Given the description of an element on the screen output the (x, y) to click on. 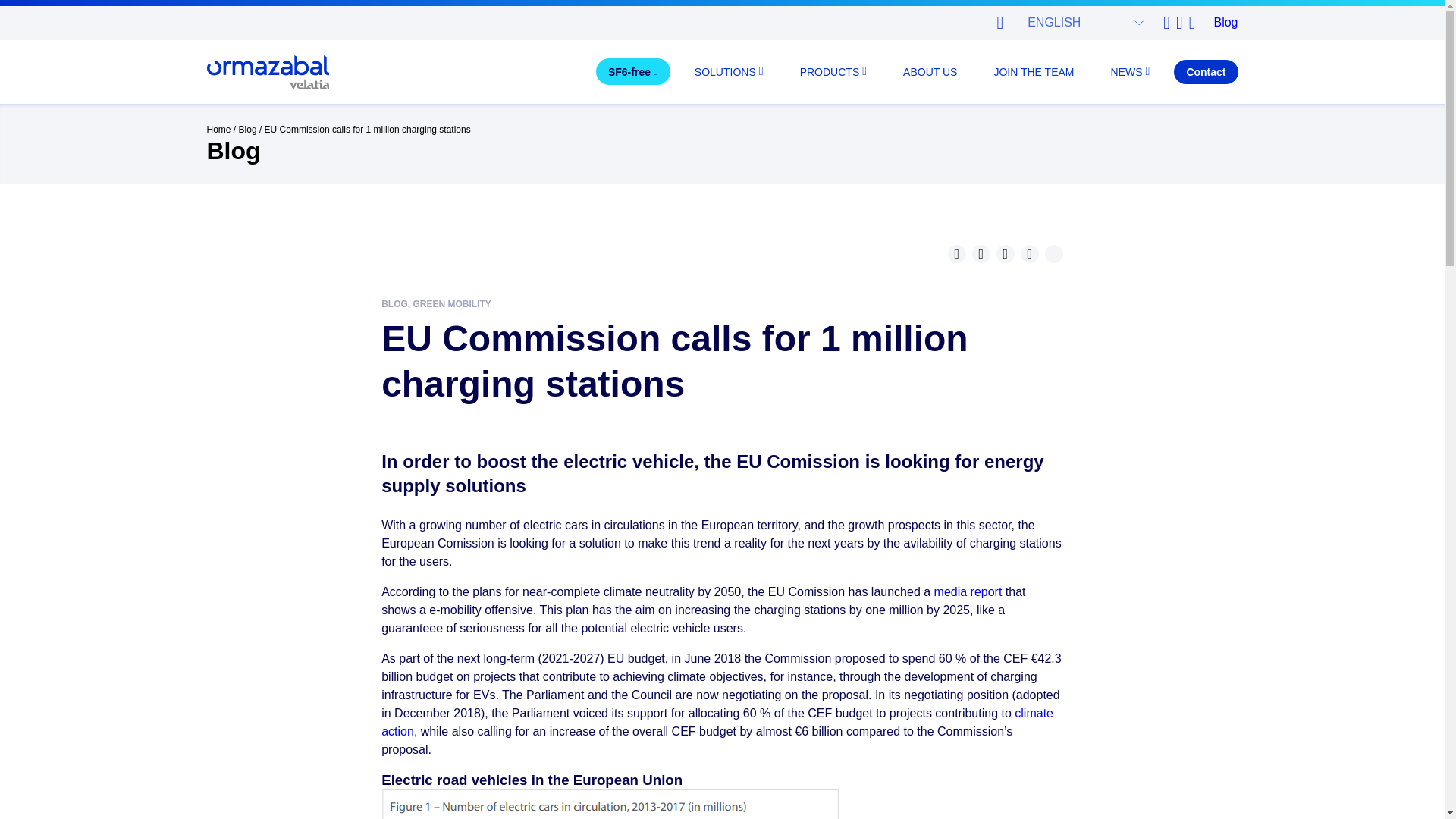
SF6-free (632, 71)
PRODUCTS (833, 71)
Blog (1224, 22)
SF6-free (632, 71)
PRODUCTS (833, 71)
SOLUTIONS (729, 71)
SOLUTIONS (729, 71)
